Given the description of an element on the screen output the (x, y) to click on. 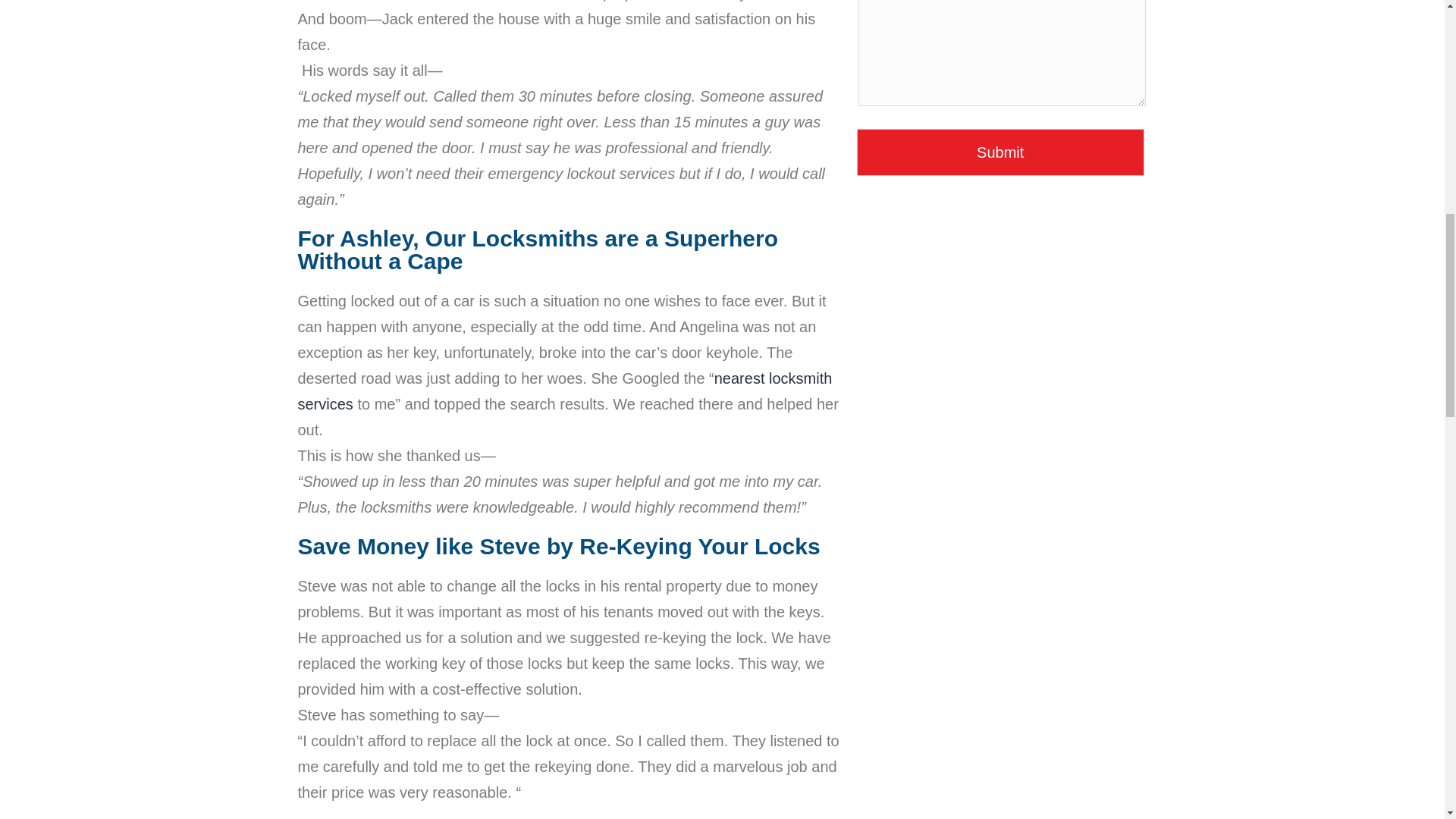
Submit (1000, 152)
Submit (1000, 152)
nearest locksmith services (564, 391)
